Given the description of an element on the screen output the (x, y) to click on. 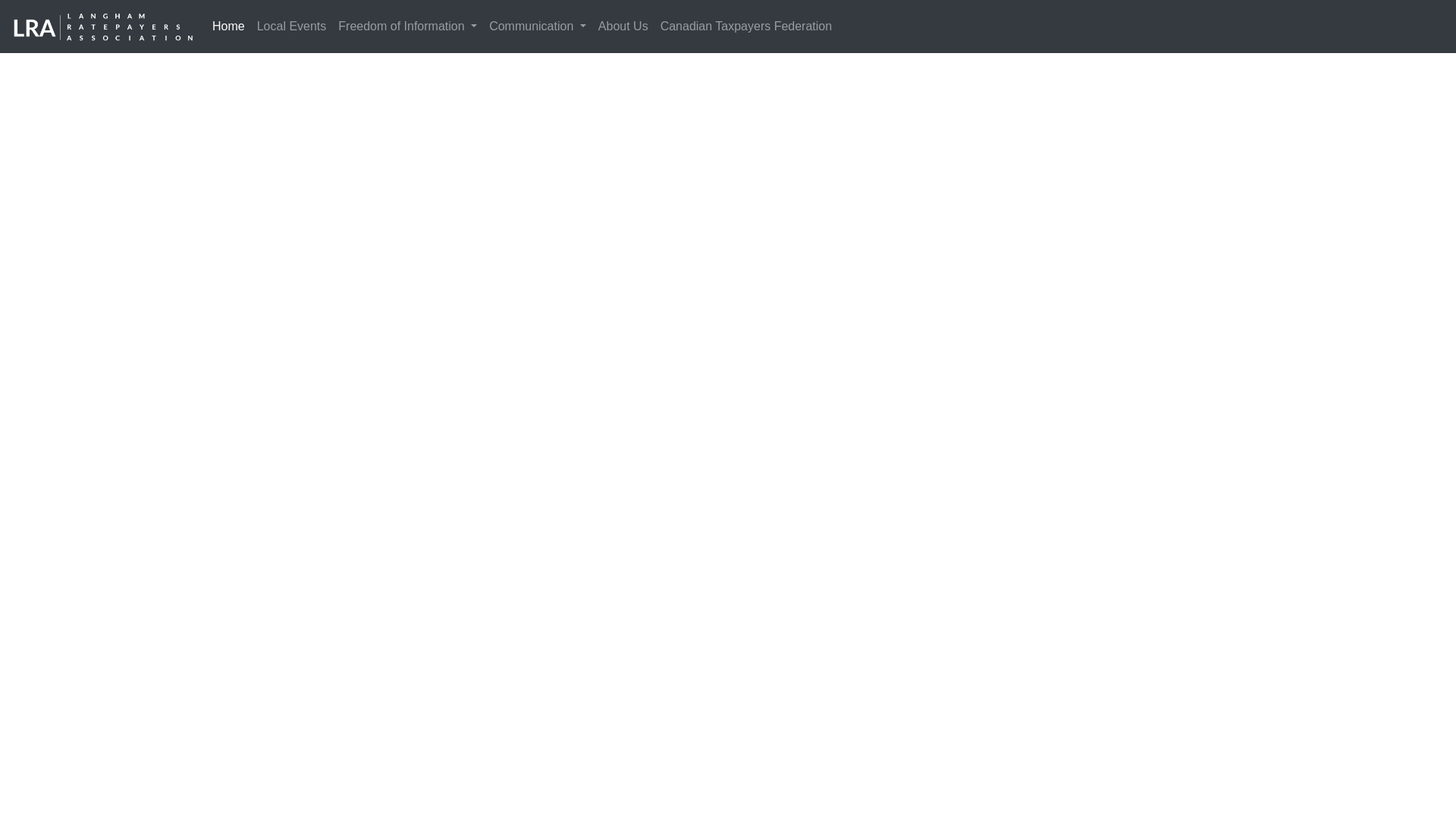
Freedom of Information (407, 26)
Canadian Taxpayers Federation (745, 26)
About Us (622, 26)
Local Events (291, 26)
Communication (537, 26)
